Given the description of an element on the screen output the (x, y) to click on. 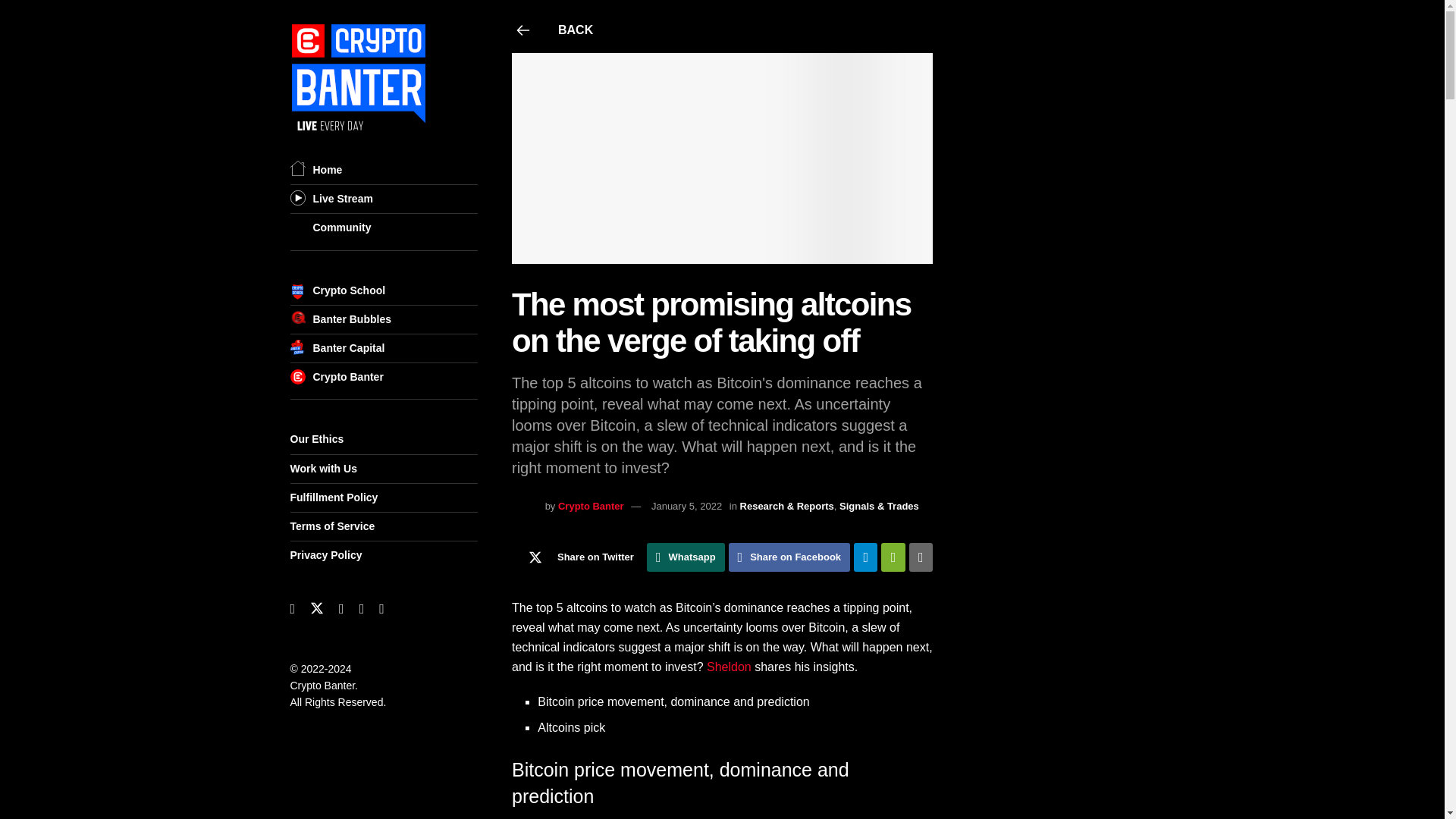
Whatsapp (685, 556)
Share on Twitter (577, 556)
Live Stream (342, 198)
Share on Facebook (789, 556)
Crypto Banter (590, 505)
Home (327, 169)
January 5, 2022 (686, 505)
BACK (724, 29)
Sheldon (728, 666)
